Given the description of an element on the screen output the (x, y) to click on. 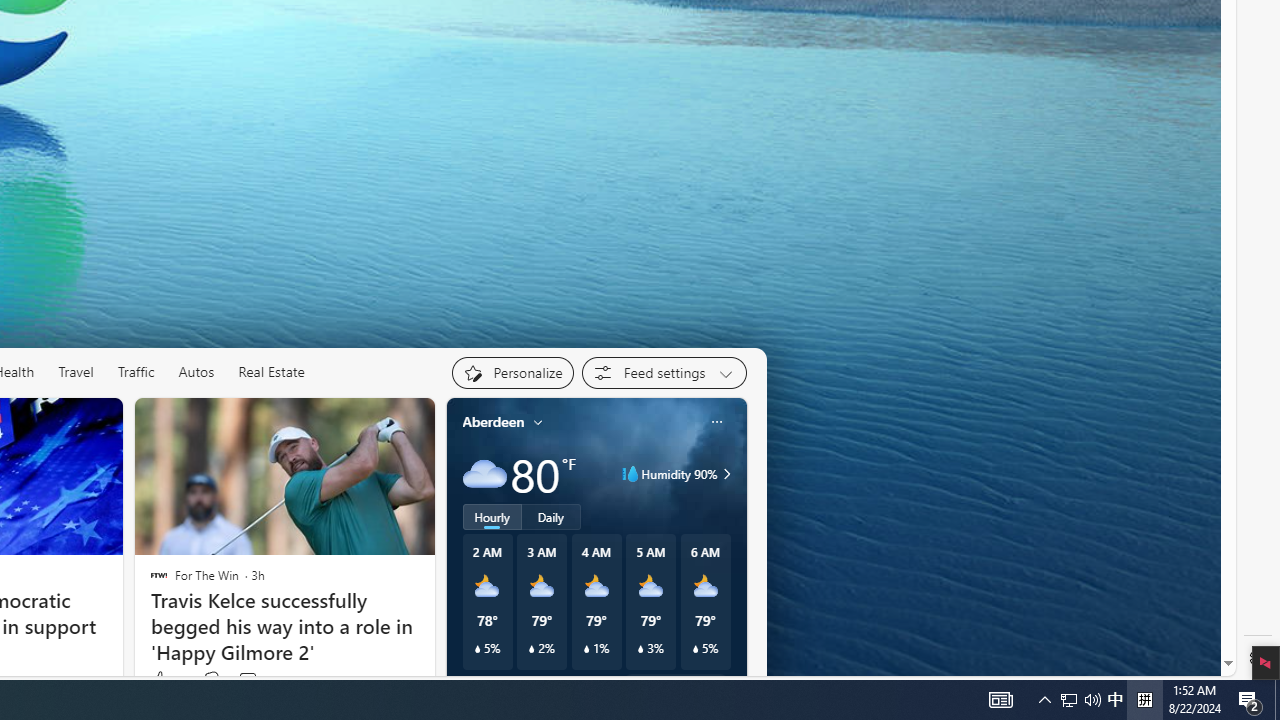
See full forecast (674, 685)
Cloudy (484, 474)
Traffic (135, 372)
Real Estate (271, 372)
My location (538, 421)
47 Like (166, 680)
Feed settings (664, 372)
Traffic (136, 371)
Class: weather-arrow-glyph (726, 474)
